Given the description of an element on the screen output the (x, y) to click on. 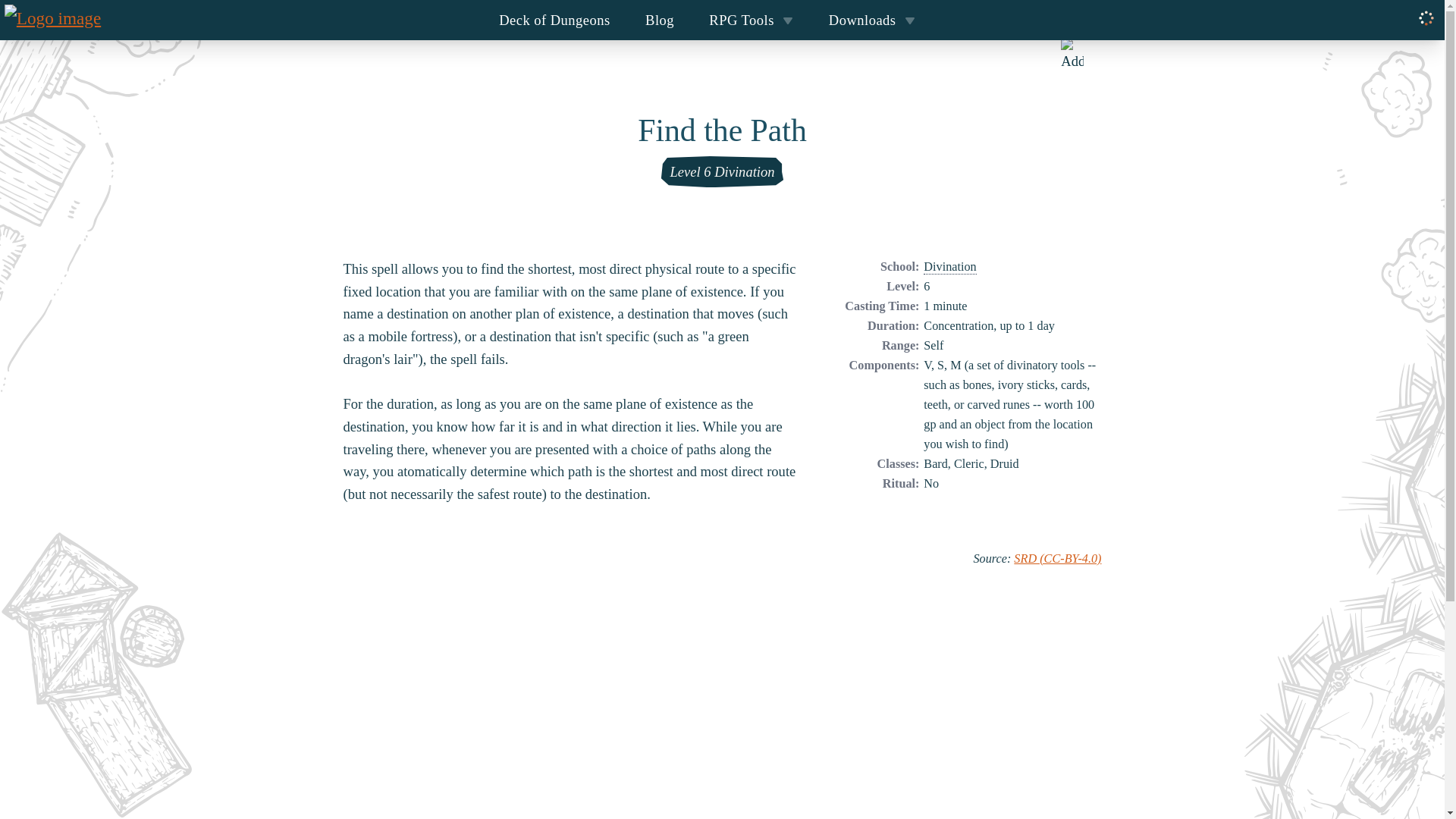
RPG Tools (750, 20)
Deck of Dungeons (554, 20)
Downloads (871, 20)
Blog (659, 20)
